Given the description of an element on the screen output the (x, y) to click on. 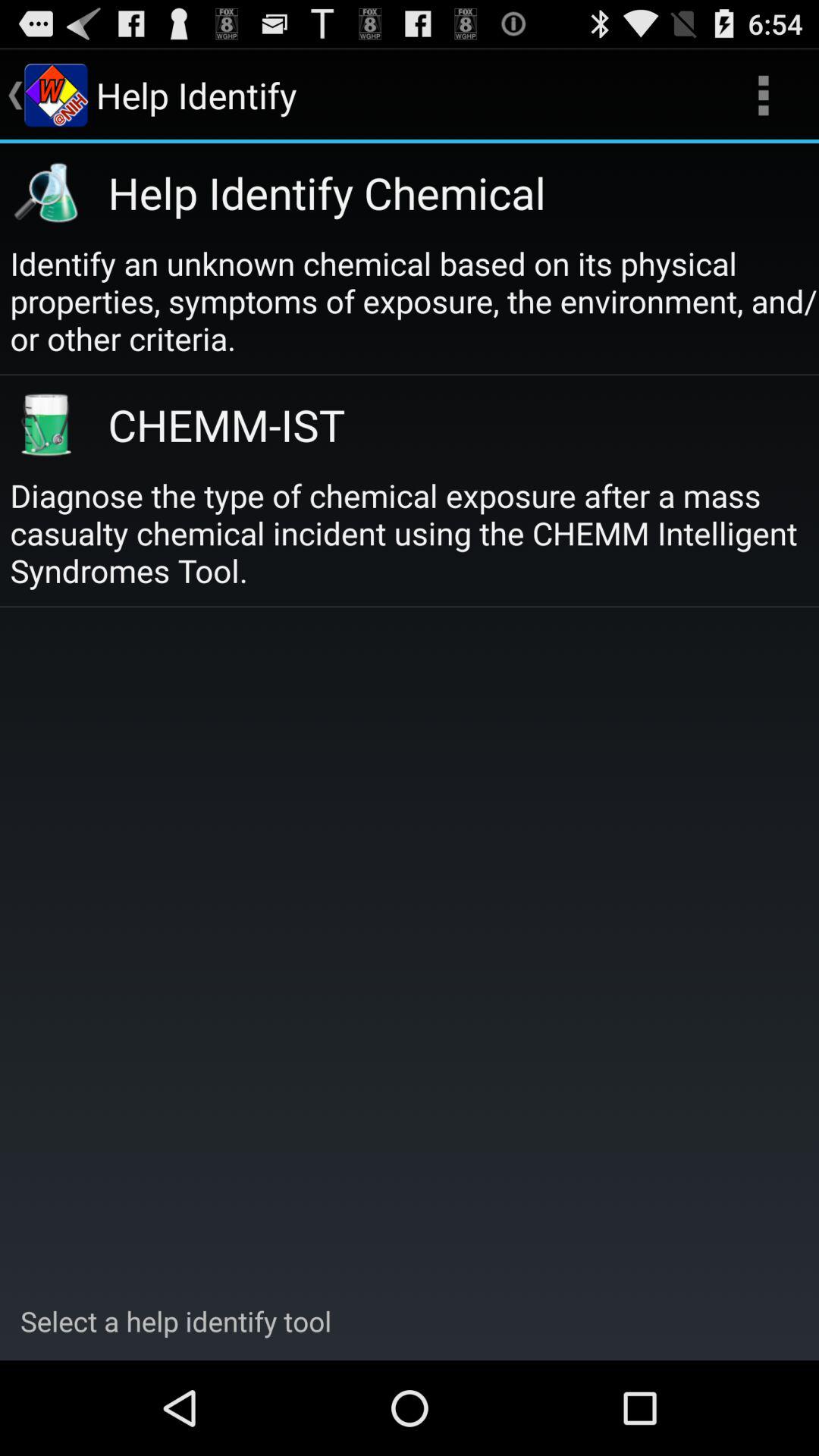
turn off identify an unknown item (414, 300)
